Given the description of an element on the screen output the (x, y) to click on. 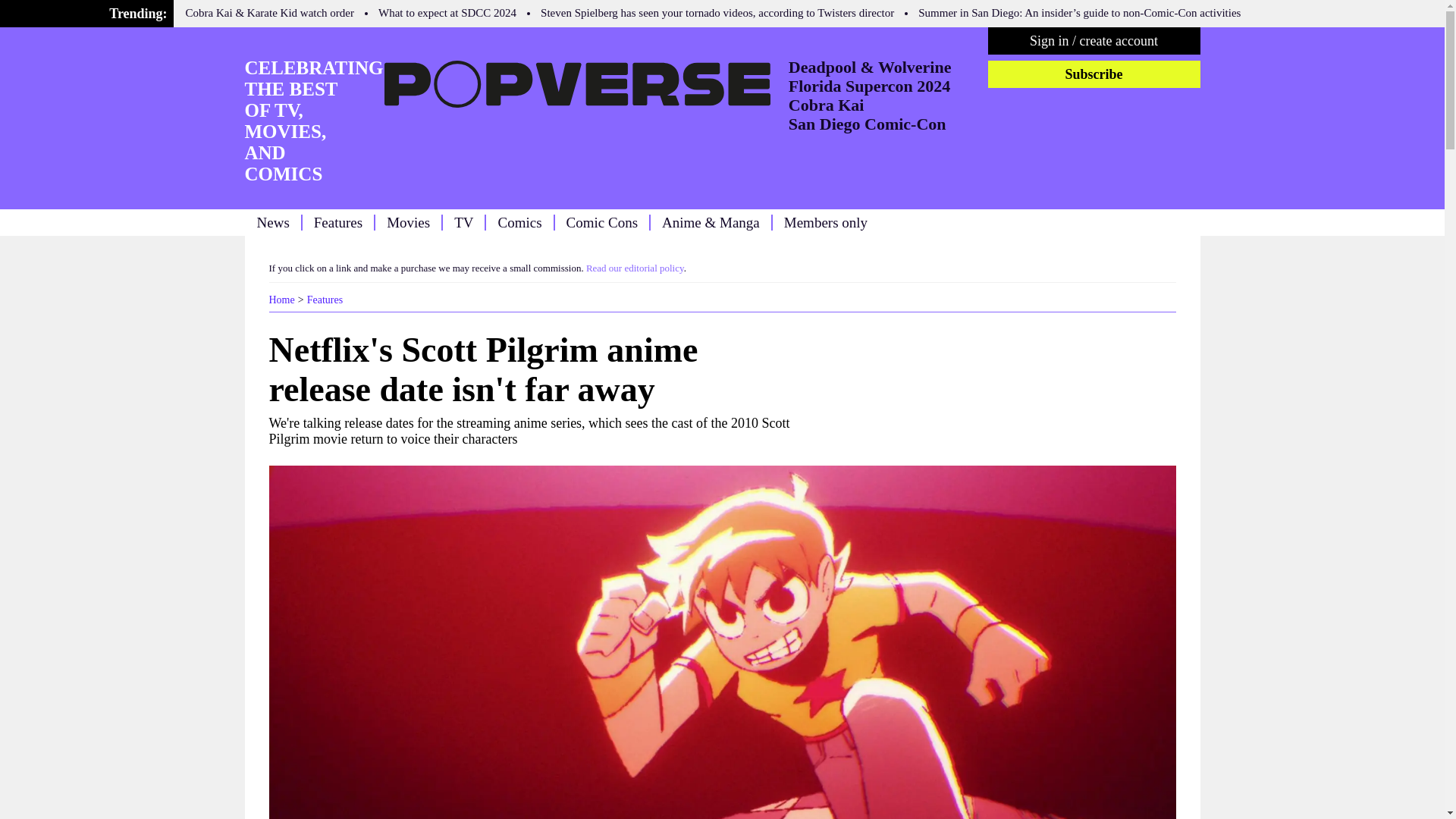
News (272, 222)
San Diego Comic-Con (867, 123)
Features (338, 222)
What to expect at SDCC 2024 (447, 12)
Features (324, 299)
San Diego Comic-Con (867, 123)
Read our editorial policy (635, 267)
Subscribe (1093, 73)
Features (324, 299)
Cobra Kai (826, 104)
TV (463, 222)
Members only (825, 222)
Cobra Kai (826, 104)
Features (338, 222)
Comic Cons (601, 222)
